Given the description of an element on the screen output the (x, y) to click on. 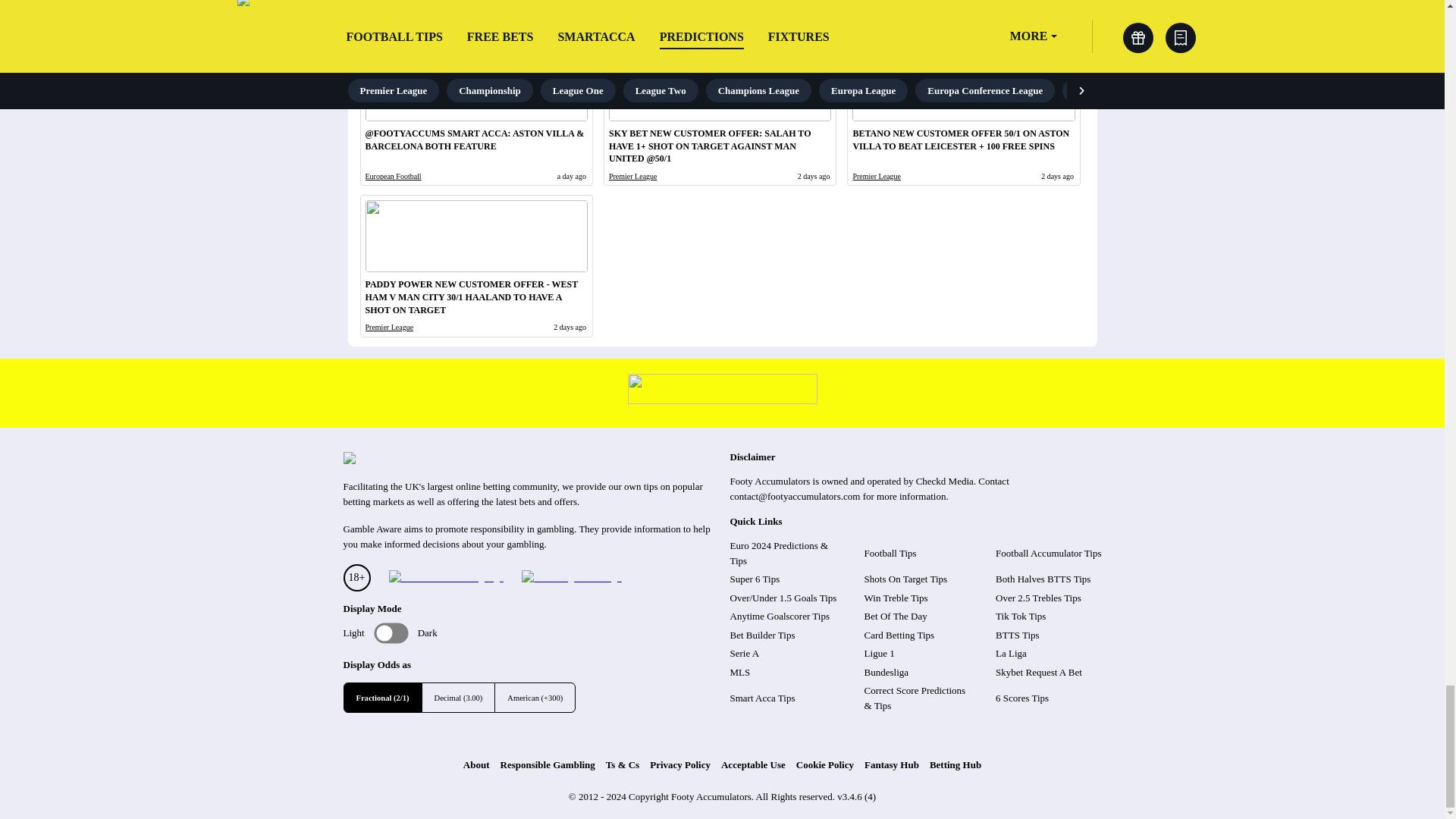
Take time to think campaign link (721, 400)
Be gamble aware campaign (445, 577)
GamblingCare.ie (571, 577)
